Given the description of an element on the screen output the (x, y) to click on. 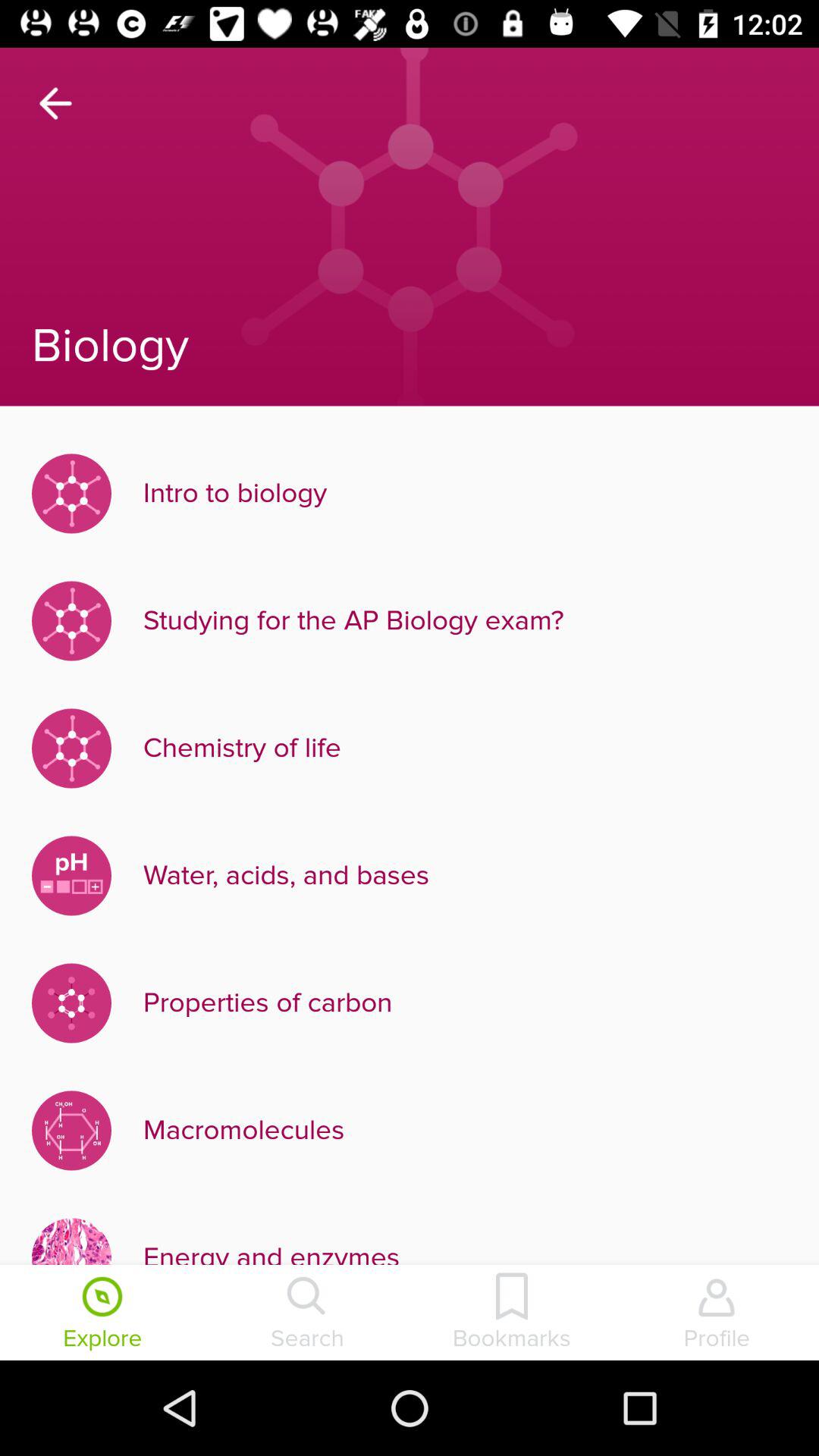
turn off the icon at the top left corner (55, 103)
